Given the description of an element on the screen output the (x, y) to click on. 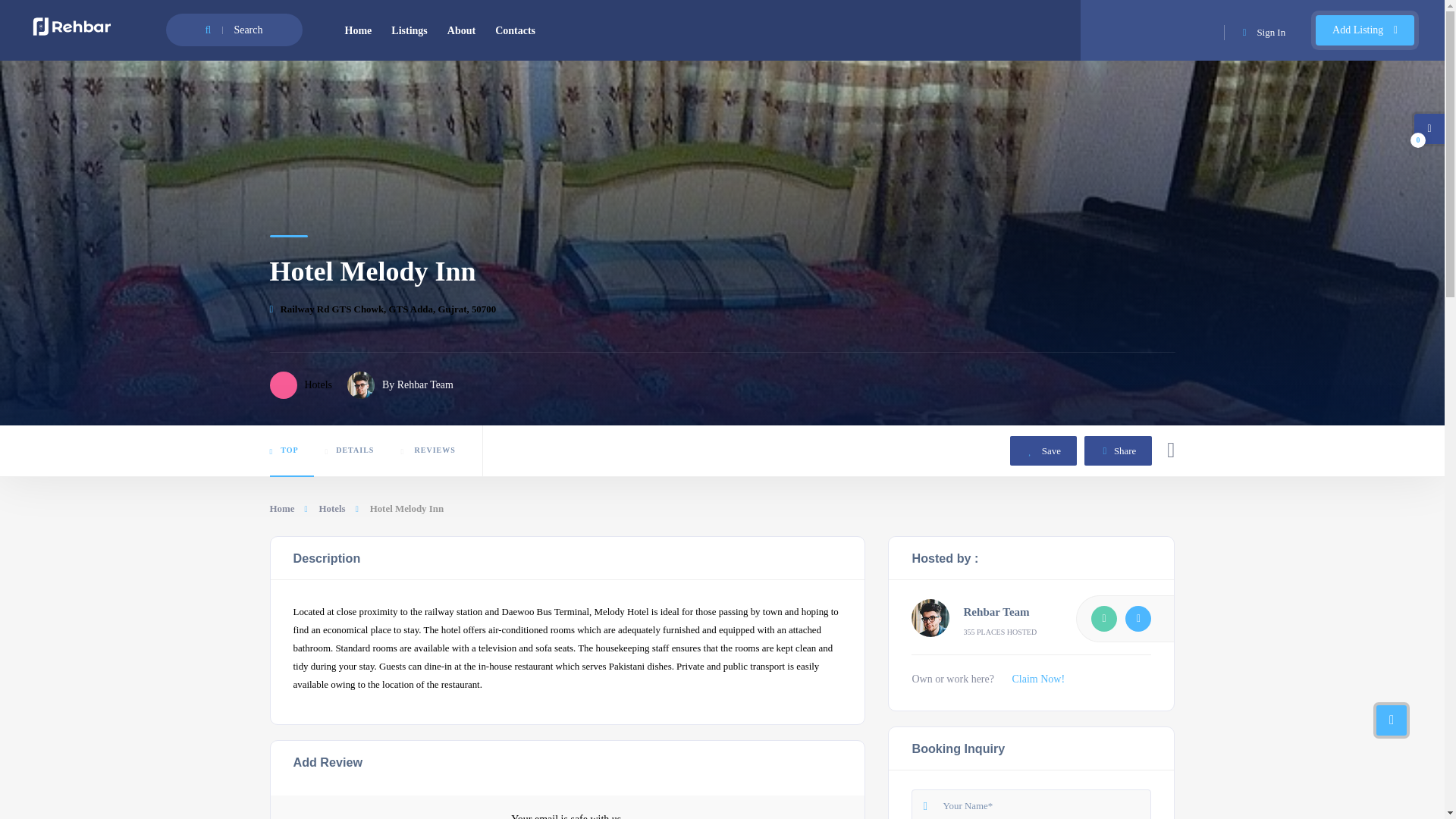
Save (1043, 450)
Hotels (330, 508)
Hotels (376, 450)
By Rehbar Team (1092, 450)
Save (301, 384)
Home (399, 384)
Railway Rd GTS Chowk, GTS Adda, Gujrat, 50700 (1043, 450)
Home (288, 508)
About (382, 308)
Share (721, 450)
REVIEWS (358, 30)
Hotel Melody Inn (461, 30)
